Given the description of an element on the screen output the (x, y) to click on. 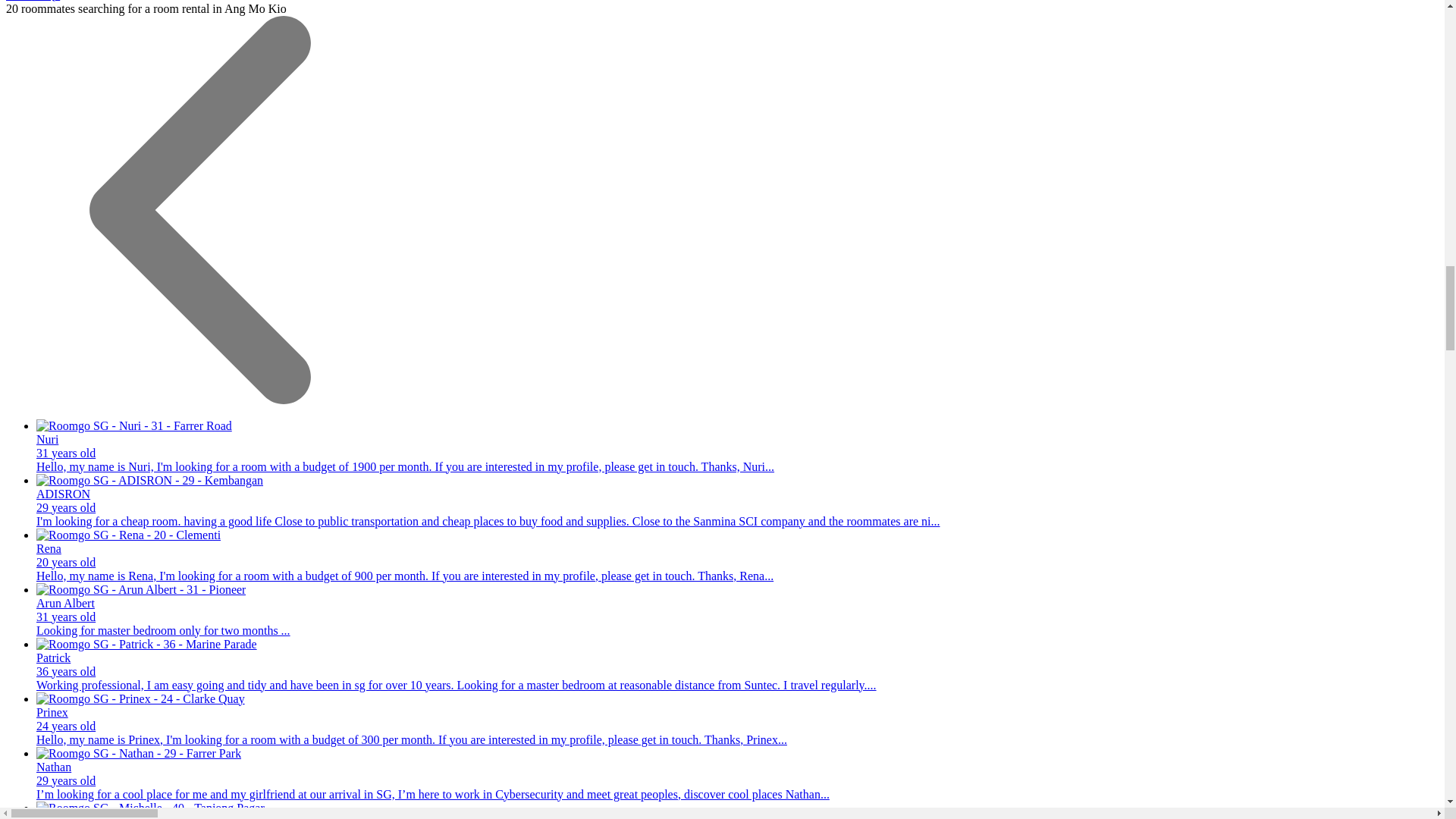
Visit FAQs (32, 0)
